Given the description of an element on the screen output the (x, y) to click on. 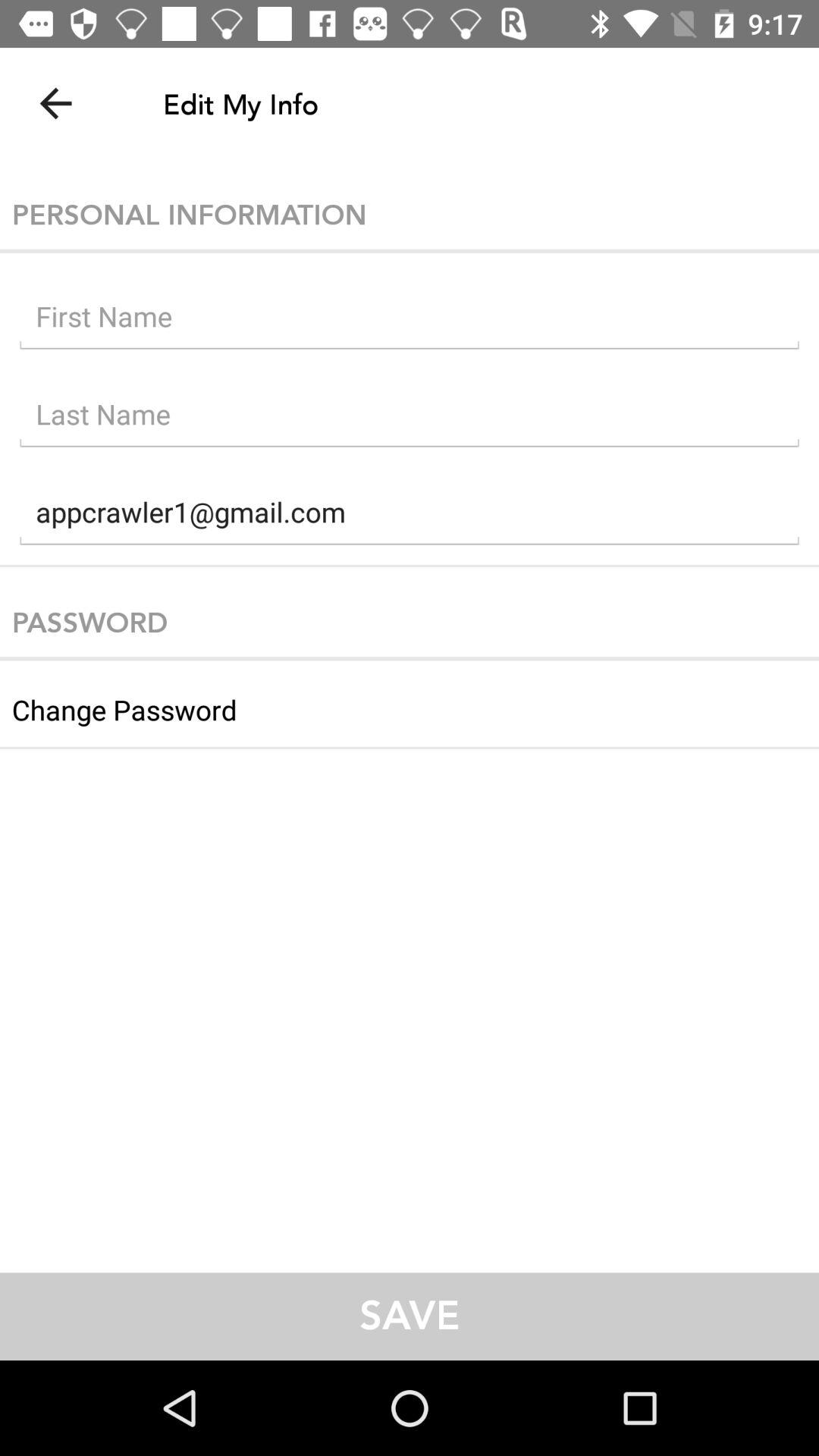
scroll until appcrawler1@gmail.com item (409, 515)
